Given the description of an element on the screen output the (x, y) to click on. 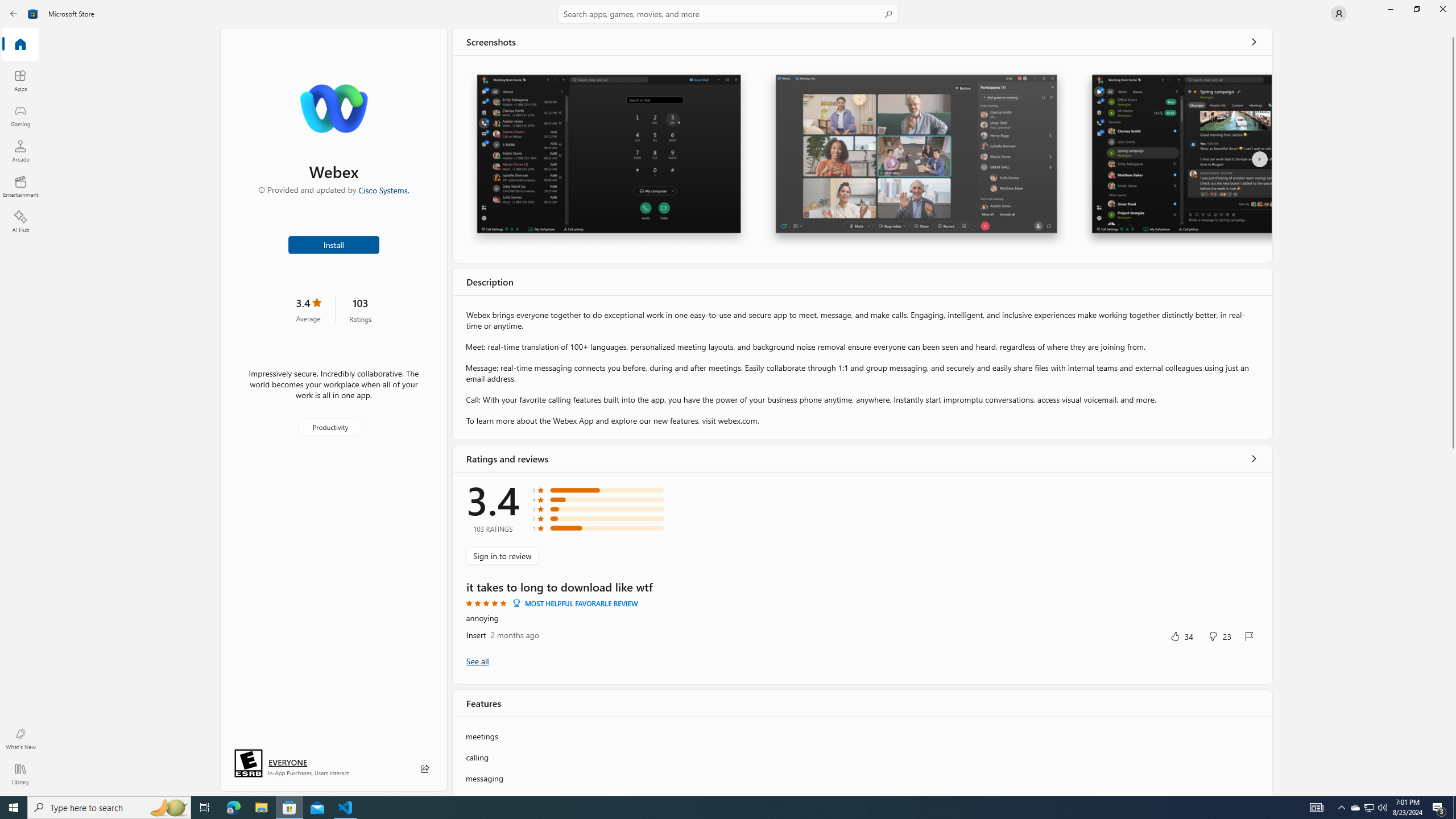
What's New (20, 738)
Arcade (20, 150)
Close Microsoft Store (1442, 9)
Vertical Small Increase (1452, 792)
Back (13, 13)
Restore Microsoft Store (1416, 9)
Screenshot 3 (1176, 158)
Home (20, 45)
Sign in to review (501, 556)
Class: Image (32, 13)
Age rating: EVERYONE. Click for more information. (287, 762)
Apps (20, 80)
AI Hub (20, 221)
Install (334, 244)
Minimize Microsoft Store (1390, 9)
